Given the description of an element on the screen output the (x, y) to click on. 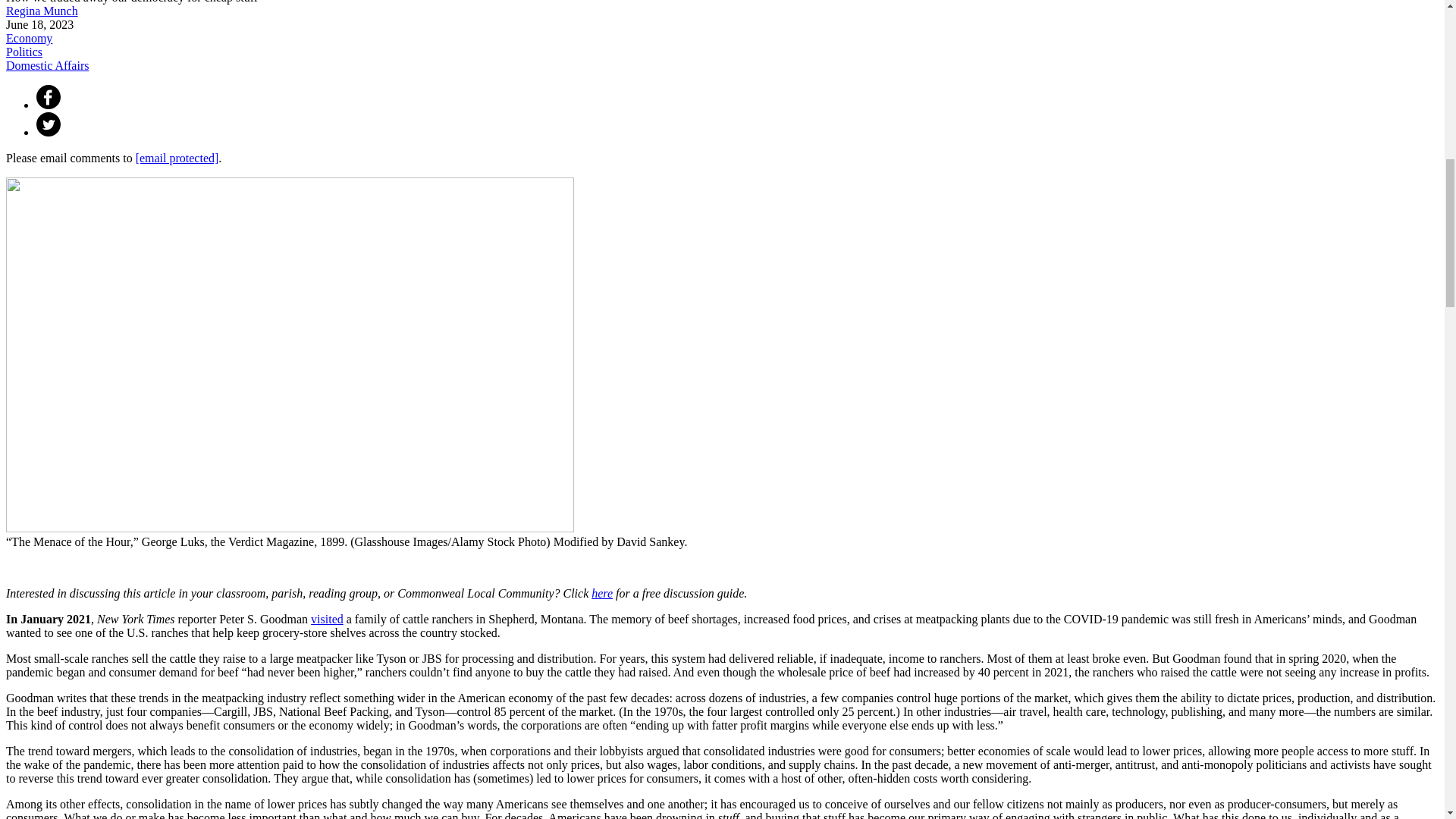
here (601, 593)
Economy (28, 38)
Sunday, June 18, 2023 - 14:45 (39, 24)
visited (327, 618)
Domestic Affairs (46, 65)
Politics (23, 51)
Regina Munch (41, 10)
